Given the description of an element on the screen output the (x, y) to click on. 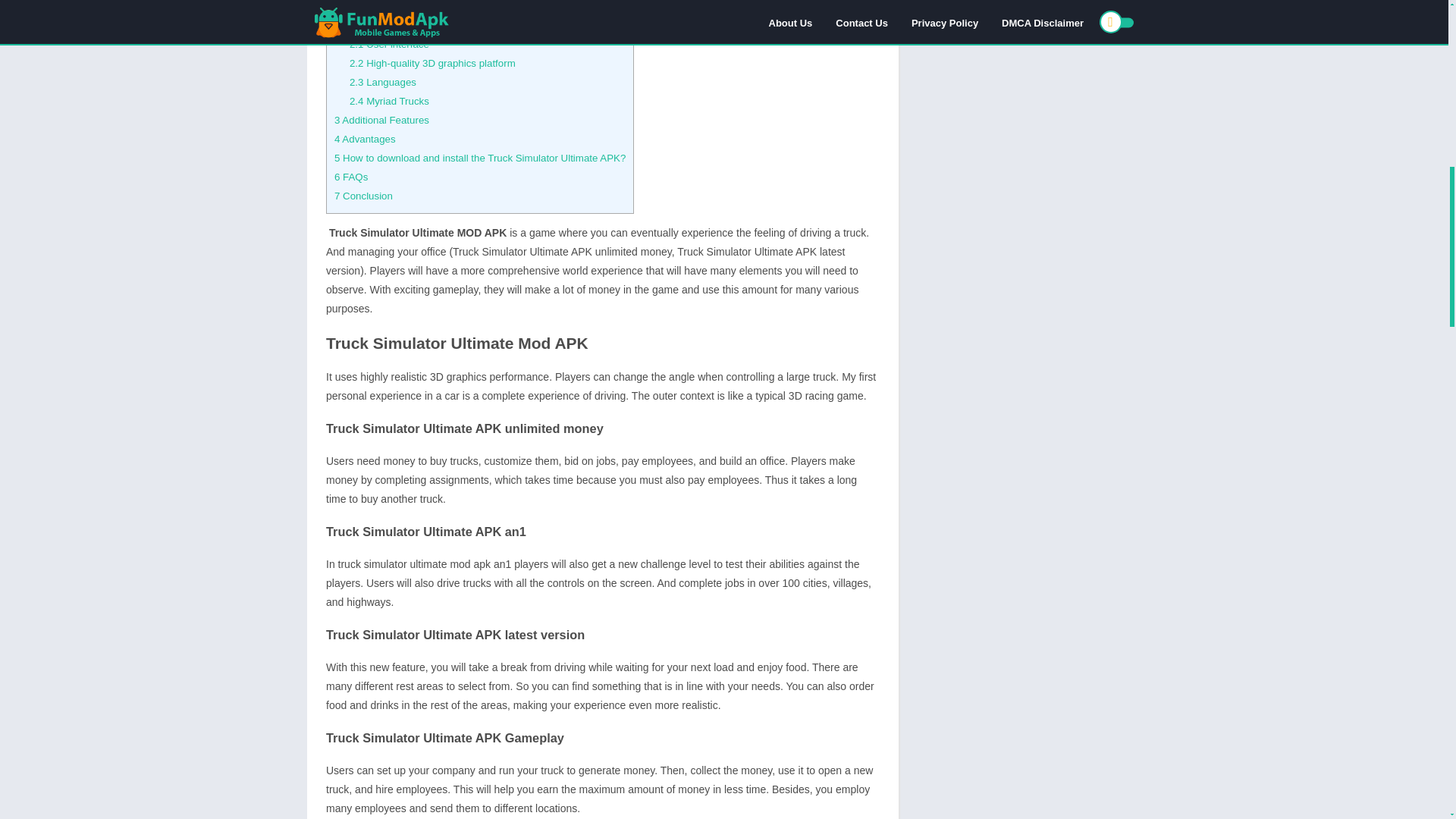
2 Main Features (370, 25)
2.1 User interface (389, 43)
1.4 Truck Simulator Ultimate APK Gameplay (448, 6)
